Given the description of an element on the screen output the (x, y) to click on. 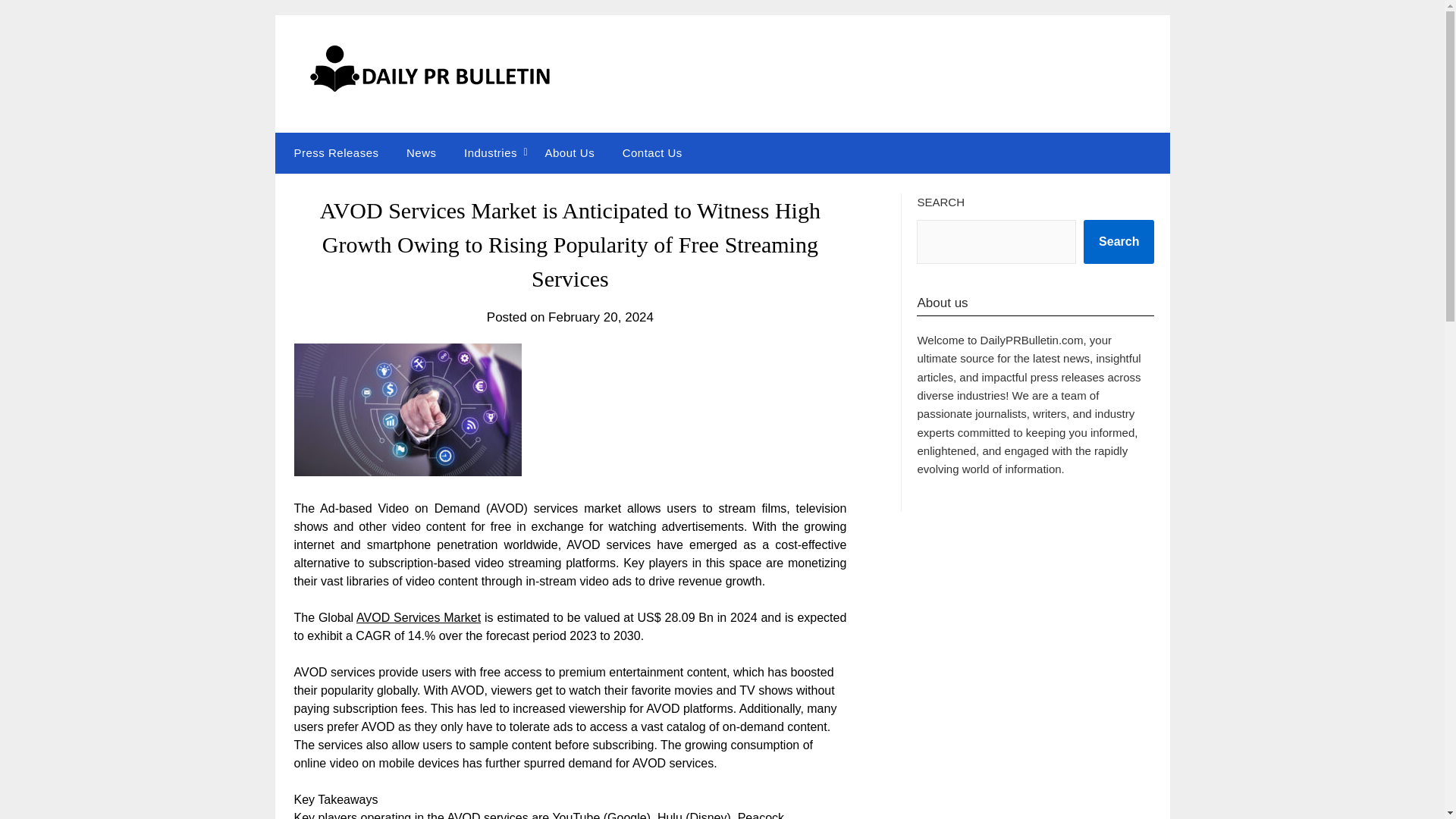
Contact Us (652, 152)
Search (1118, 241)
Press Releases (332, 152)
AVOD Services Market (418, 617)
News (421, 152)
About Us (569, 152)
Industries (490, 152)
